Given the description of an element on the screen output the (x, y) to click on. 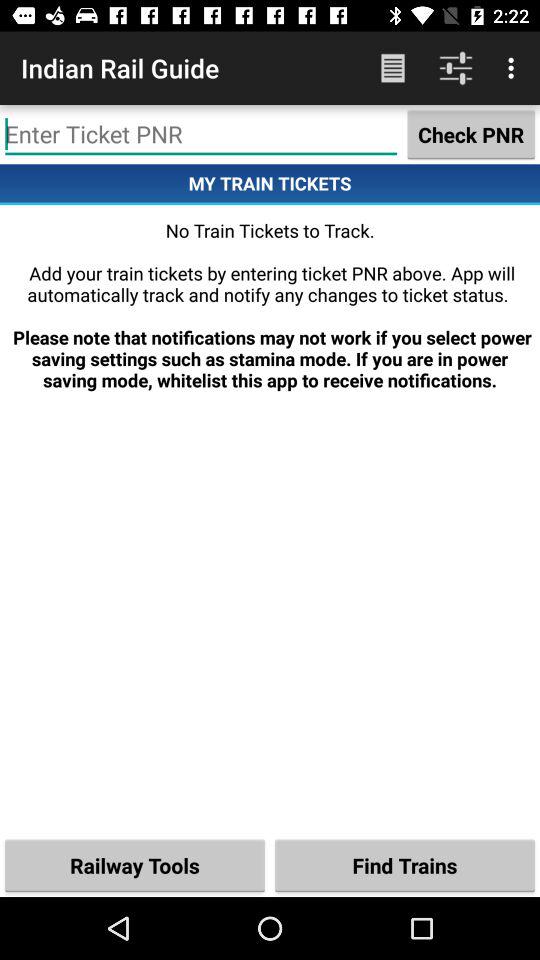
type ticket pnr (201, 134)
